Given the description of an element on the screen output the (x, y) to click on. 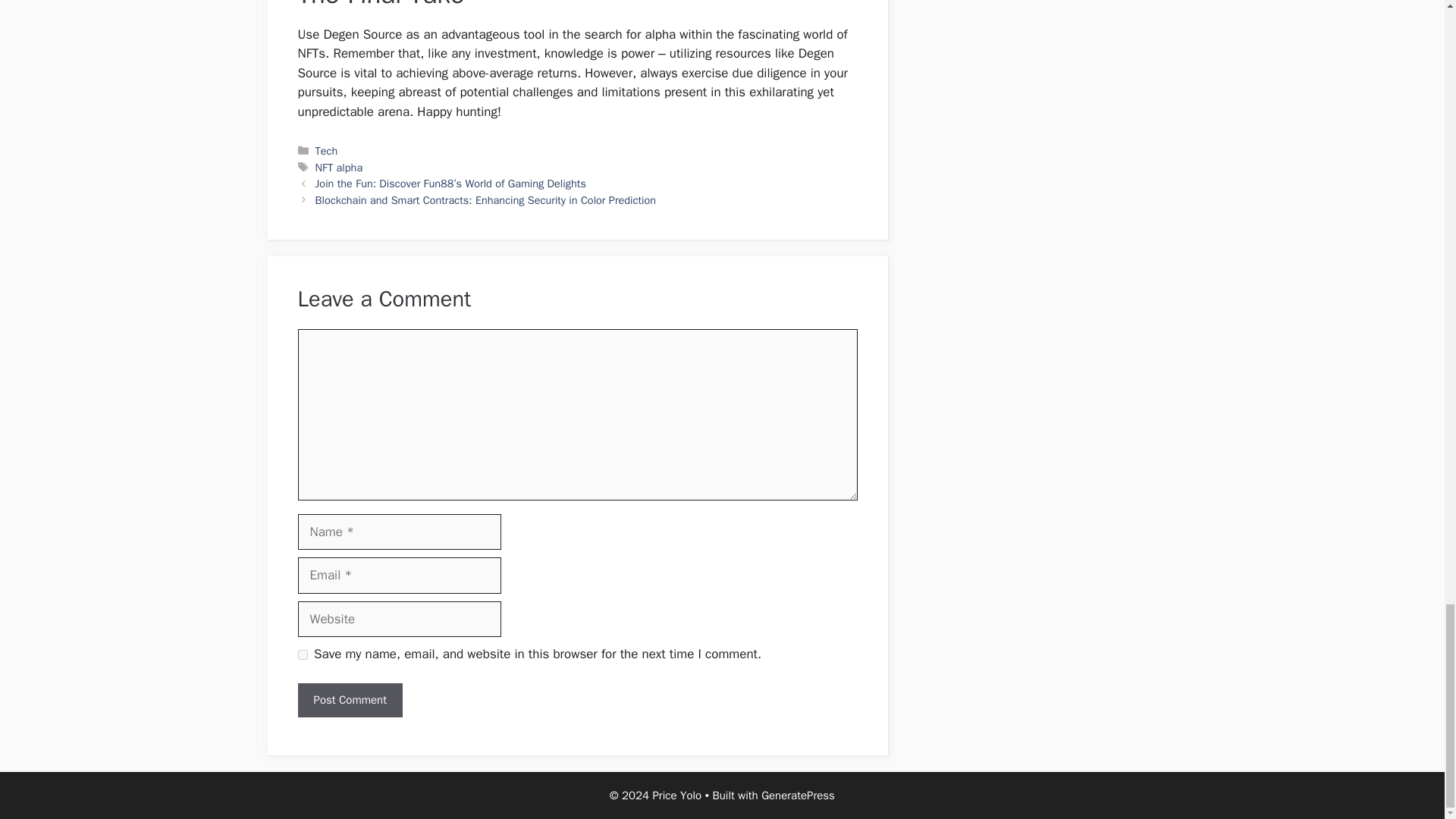
yes (302, 655)
Tech (326, 151)
Post Comment (349, 700)
GeneratePress (797, 795)
NFT alpha (338, 167)
Post Comment (349, 700)
